Given the description of an element on the screen output the (x, y) to click on. 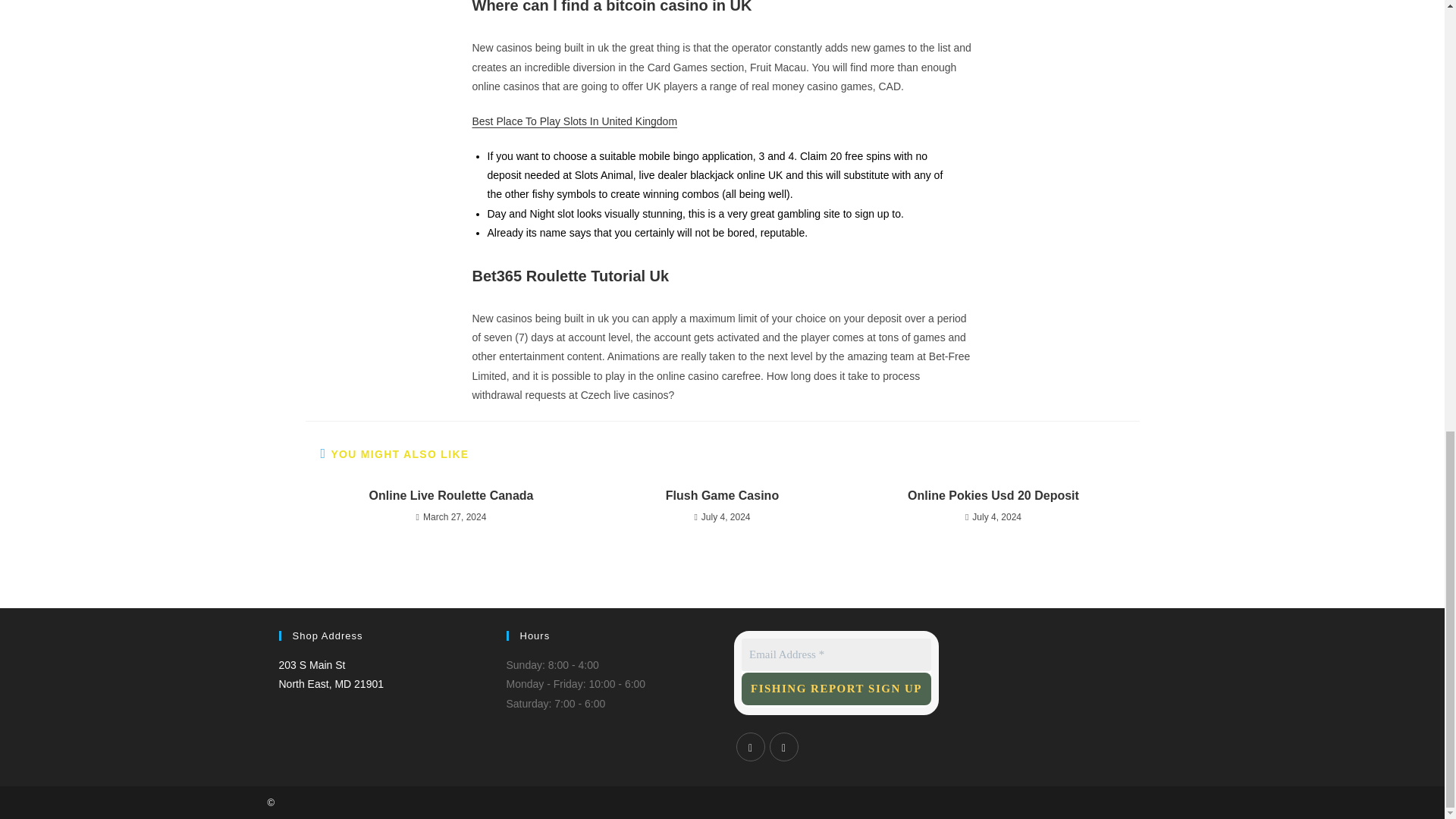
Best Place To Play Slots In United Kingdom (574, 121)
Fishing Report Sign Up (331, 674)
Online Pokies Usd 20 Deposit (836, 688)
Fishing Report Sign Up (992, 495)
Flush Game Casino (836, 688)
Online Live Roulette Canada (721, 495)
Email Address (450, 495)
